Given the description of an element on the screen output the (x, y) to click on. 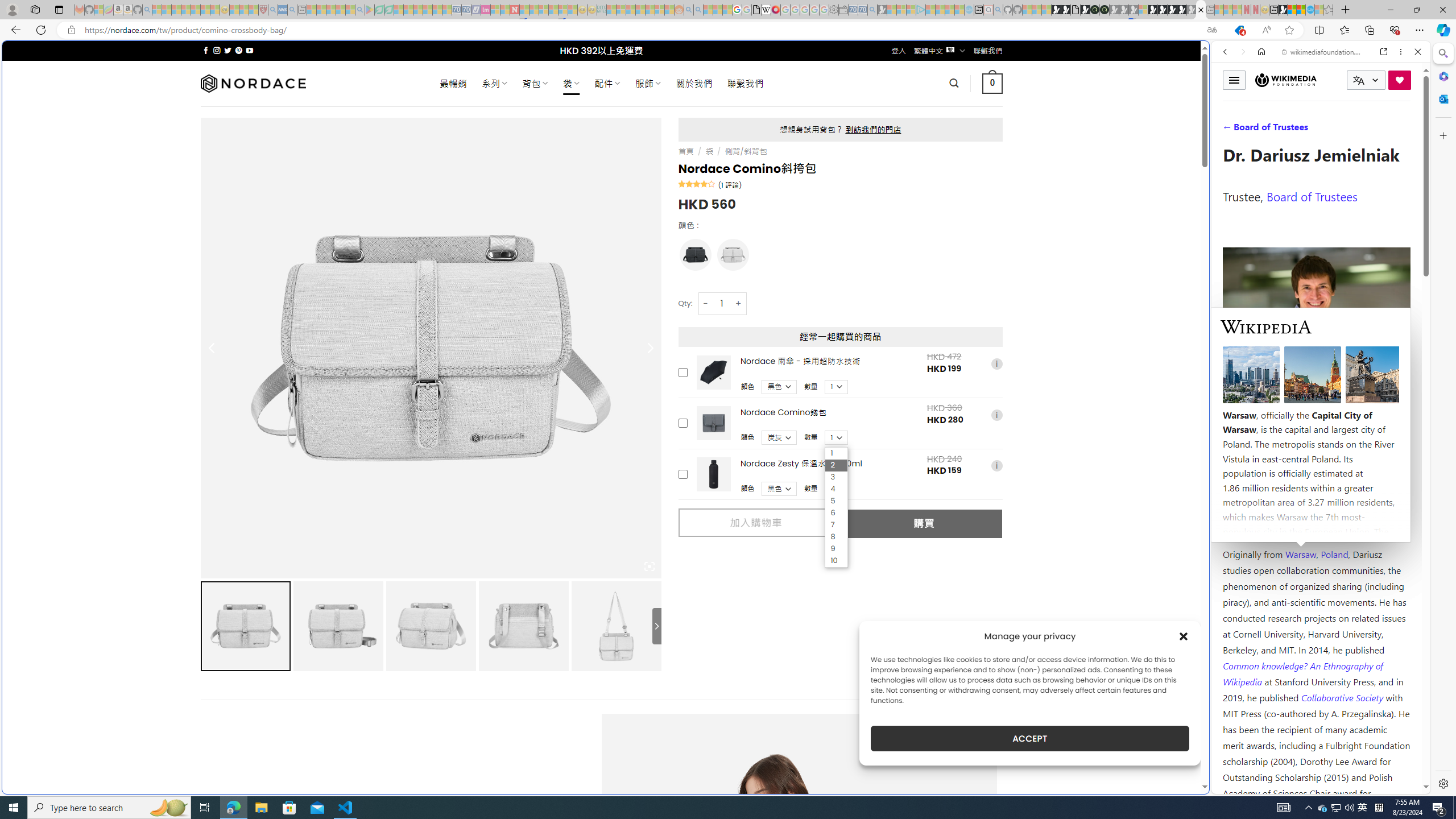
Follow on Pinterest (237, 50)
10 (836, 560)
This site has coupons! Shopping in Microsoft Edge, 4 (1239, 29)
